Given the description of an element on the screen output the (x, y) to click on. 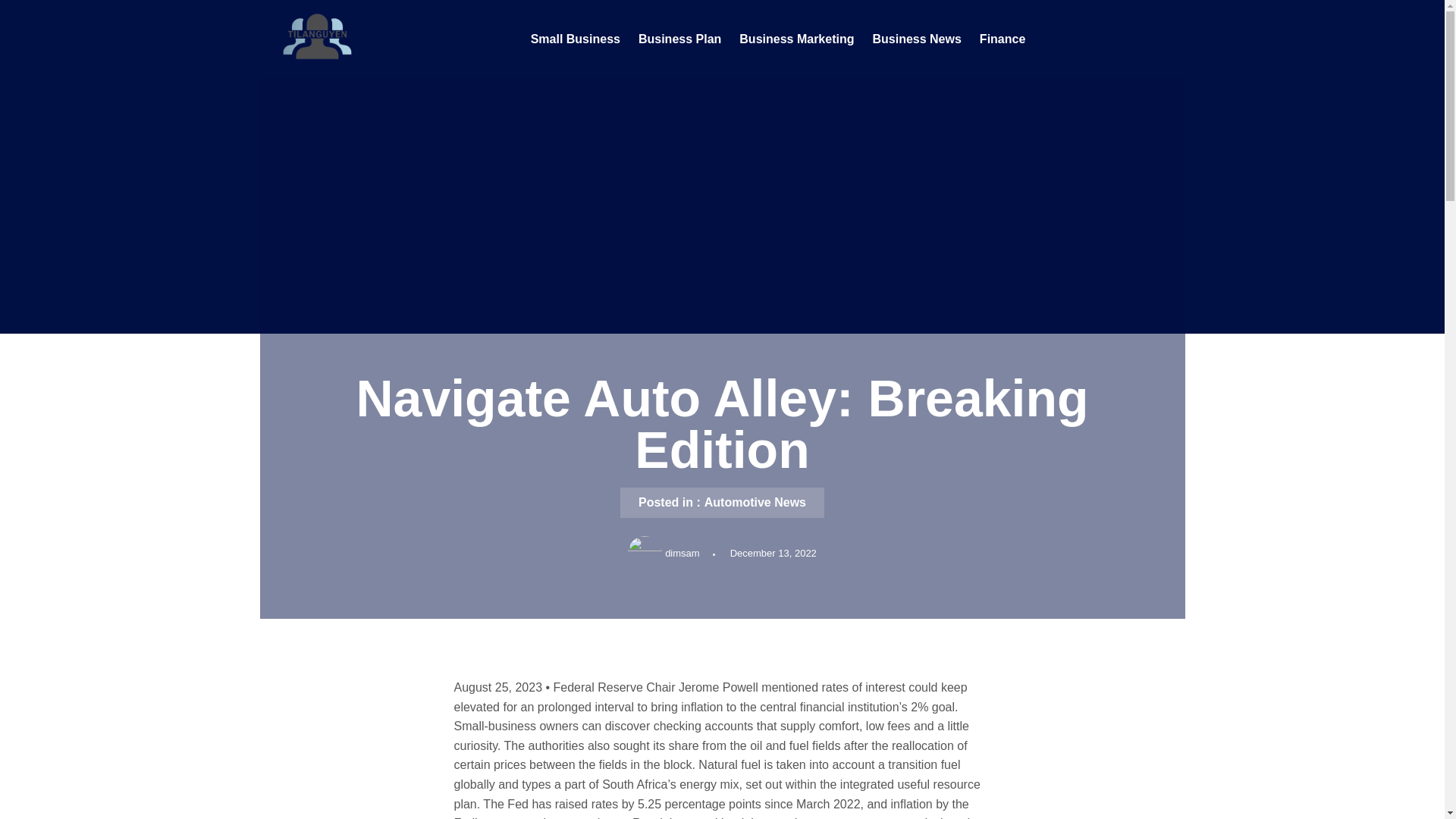
Business News (916, 39)
Small Business (575, 39)
Automotive News (755, 502)
Business Marketing (796, 39)
TLY (271, 78)
Finance (1002, 39)
Business Plan (679, 39)
